Given the description of an element on the screen output the (x, y) to click on. 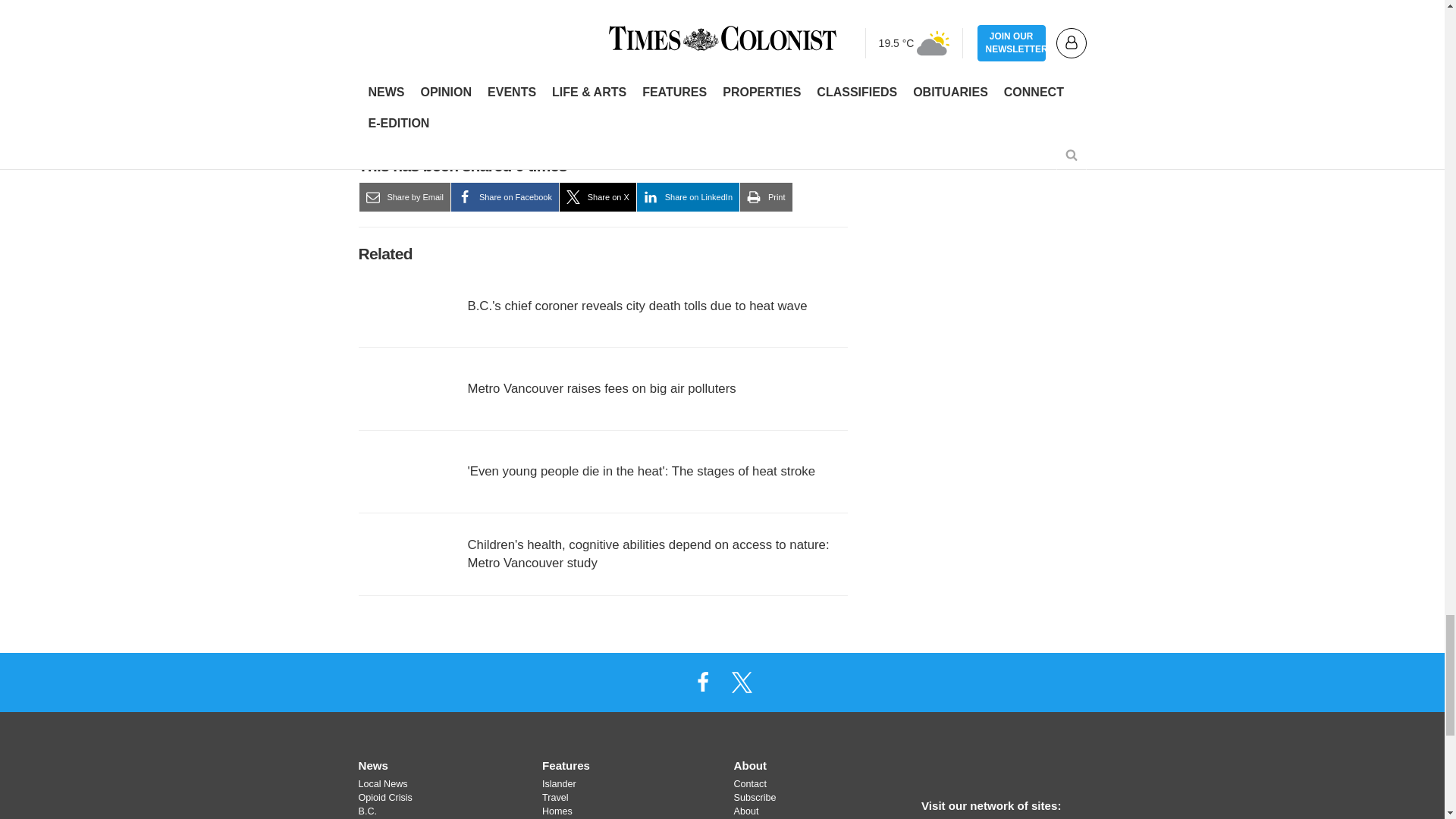
X (741, 681)
Facebook (702, 681)
